Given the description of an element on the screen output the (x, y) to click on. 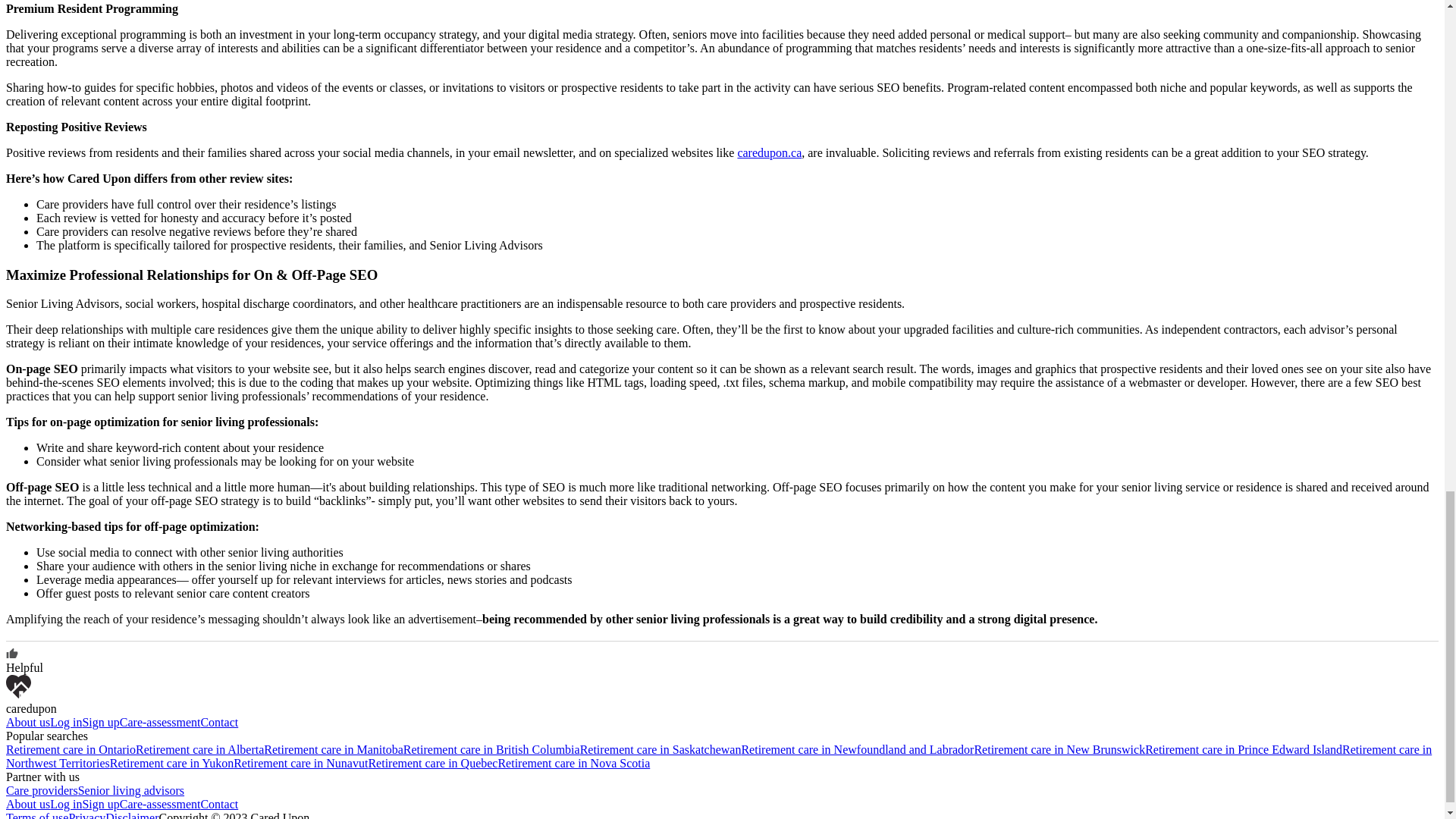
Retirement care in Yukon (171, 762)
Retirement care in British Columbia (491, 748)
Senior living advisors (131, 789)
Retirement care in Ontario (70, 748)
Retirement care in Alberta (199, 748)
Log in (65, 803)
Retirement care in Saskatchewan (660, 748)
Retirement care in Nunavut (300, 762)
Contact (219, 721)
Retirement care in Newfoundland and Labrador (857, 748)
Sign up (100, 721)
Retirement care in Prince Edward Island (1243, 748)
Log in (65, 721)
About us (27, 803)
Retirement care in Northwest Territories (718, 755)
